Given the description of an element on the screen output the (x, y) to click on. 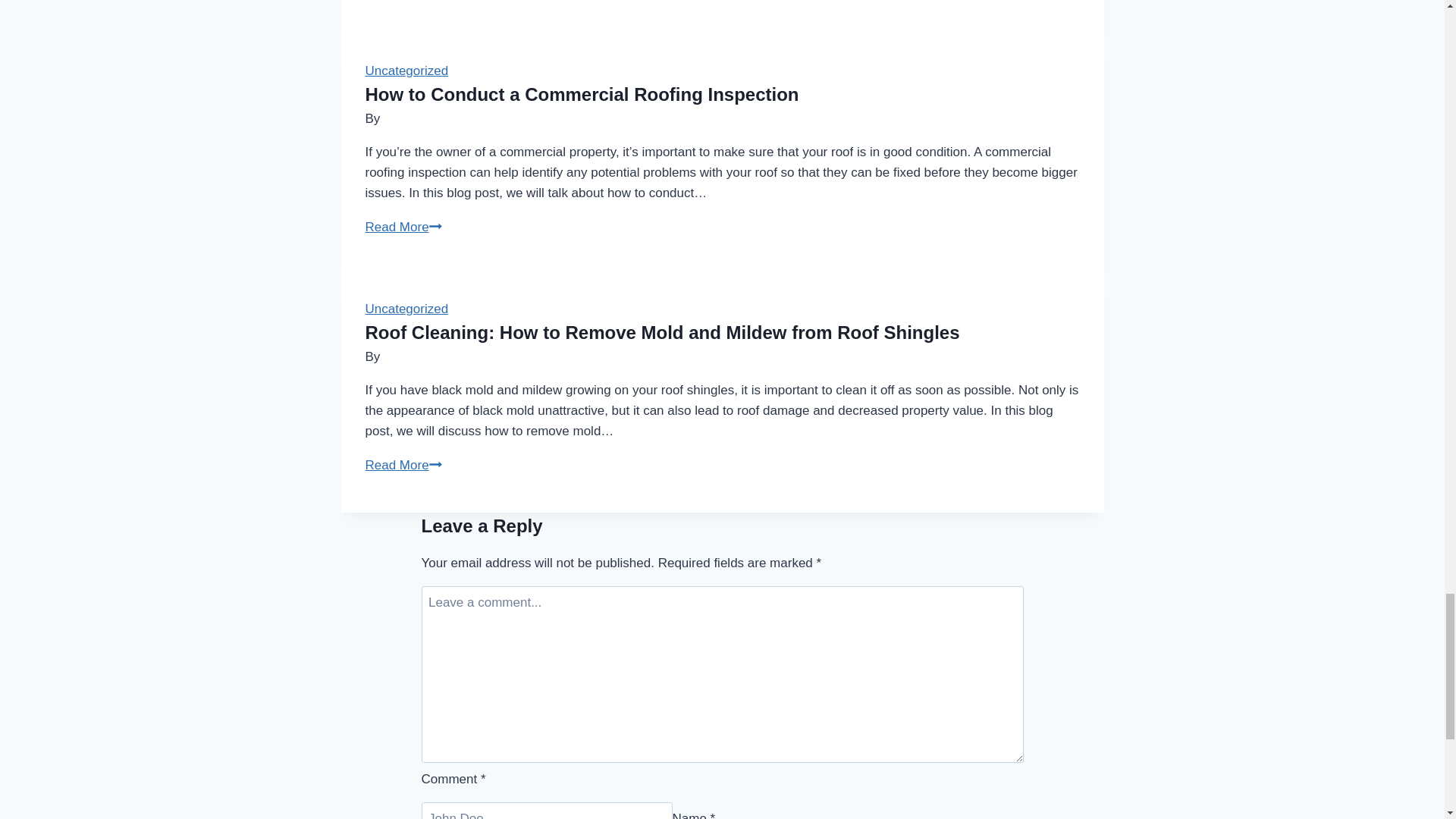
Uncategorized (403, 227)
How to Conduct a Commercial Roofing Inspection (406, 309)
Uncategorized (582, 94)
